Given the description of an element on the screen output the (x, y) to click on. 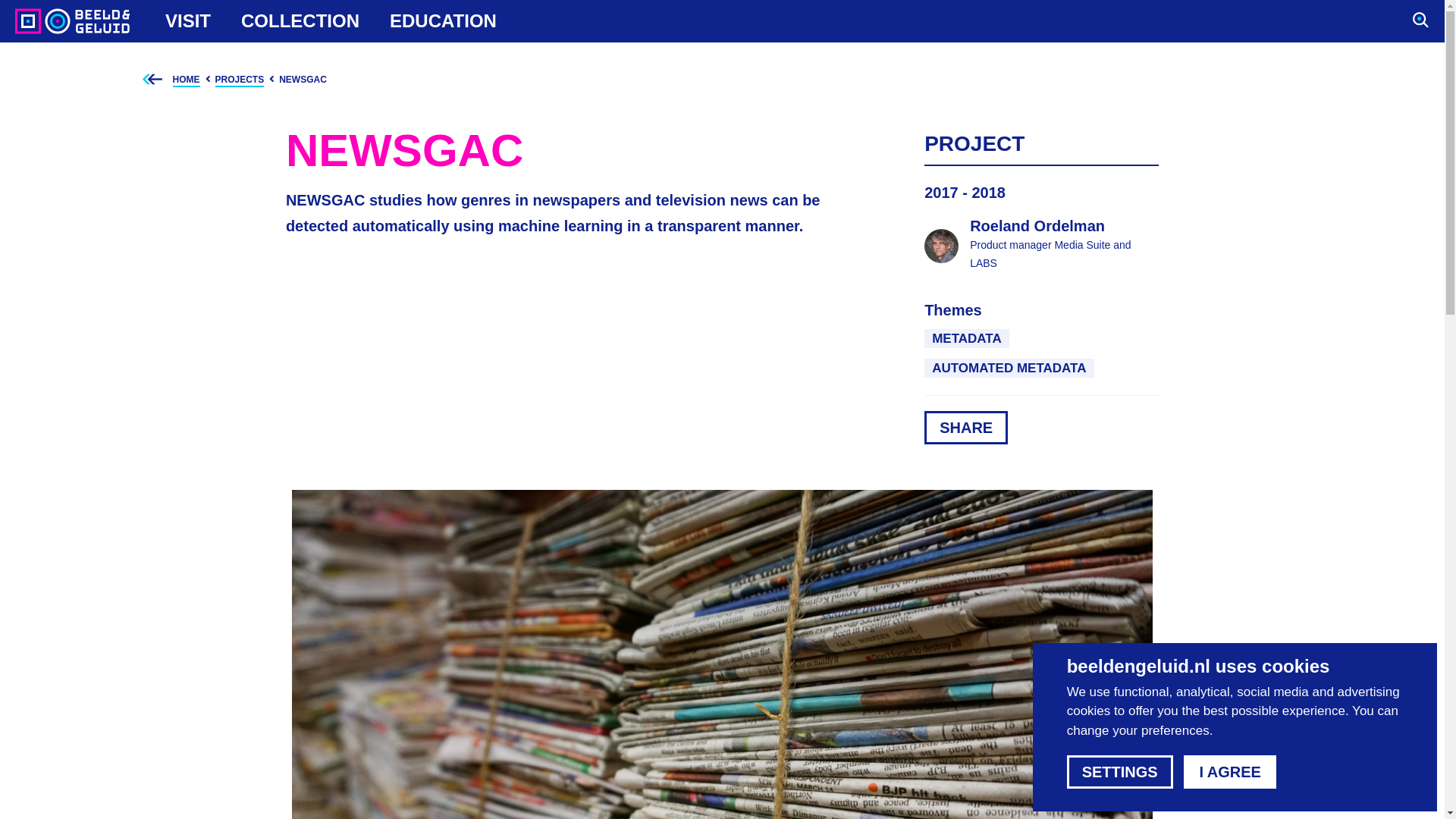
AUTOMATED METADATA (1008, 367)
COLLECTION (300, 21)
SHARE (965, 427)
EDUCATION (443, 21)
VISIT (1041, 245)
PROJECTS (188, 21)
METADATA (247, 79)
HOME (966, 338)
OPEN SEARCH (194, 79)
